Given the description of an element on the screen output the (x, y) to click on. 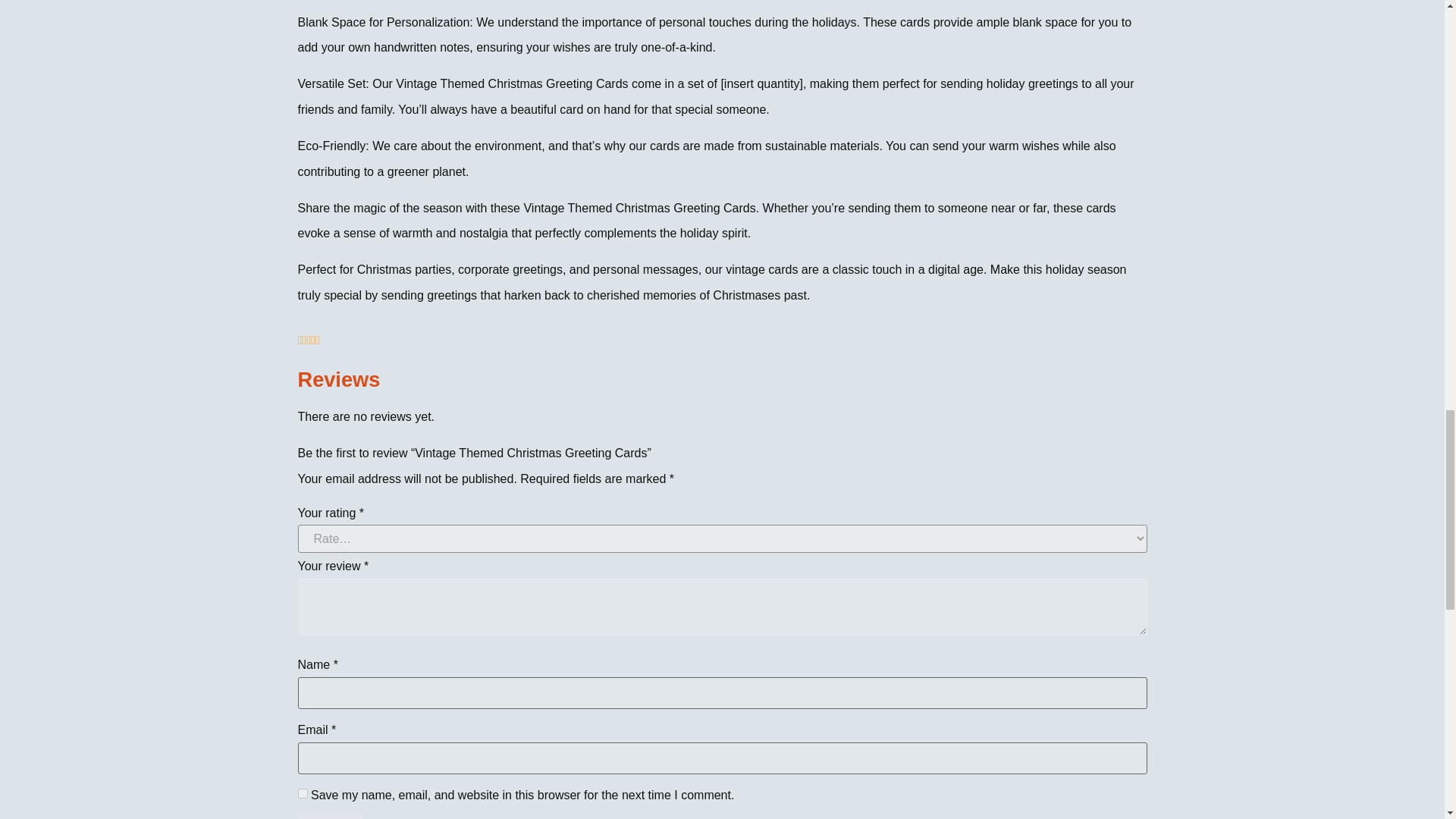
Submit (329, 816)
Submit (329, 816)
yes (302, 793)
